Given the description of an element on the screen output the (x, y) to click on. 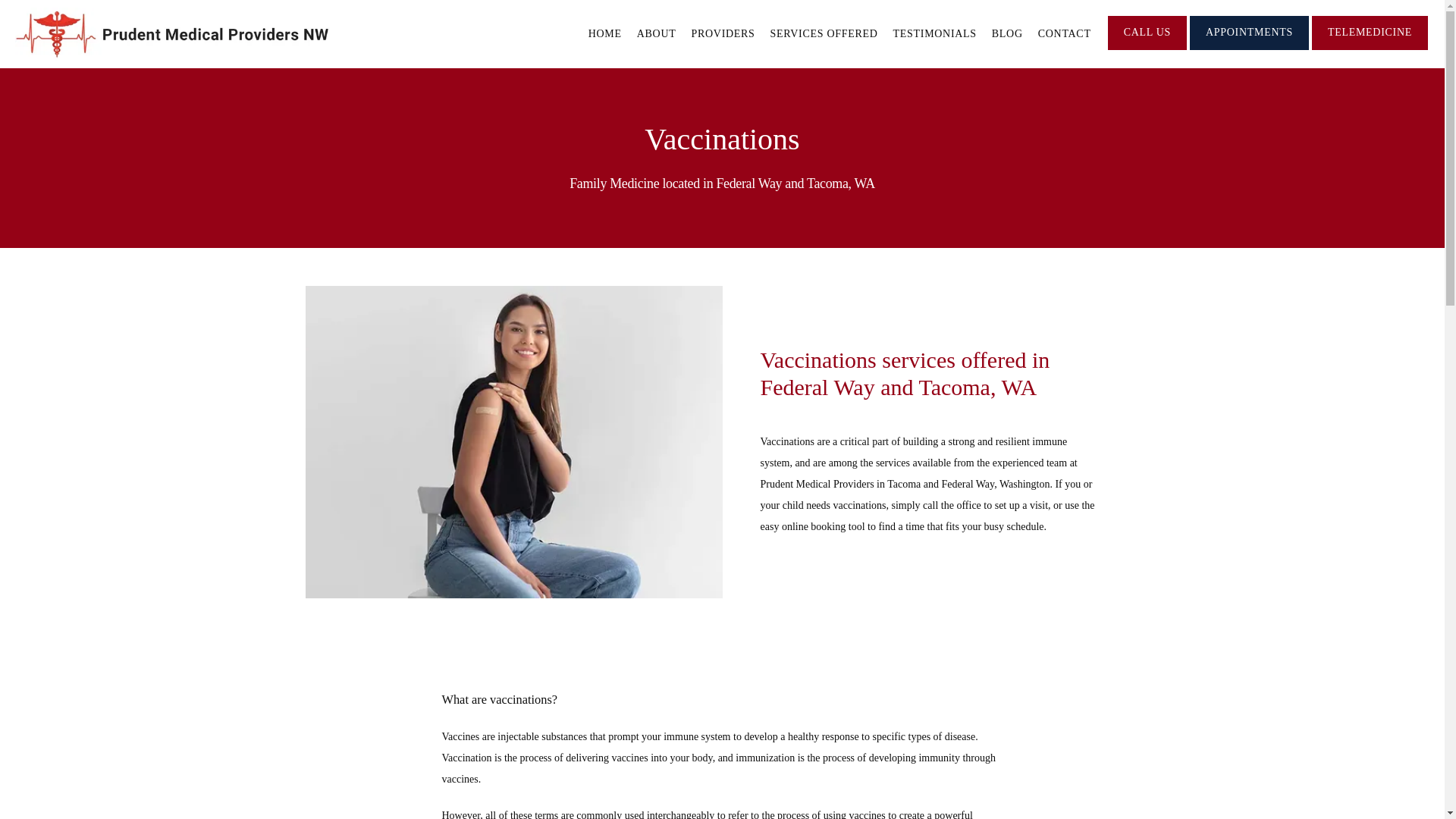
TESTIMONIALS (934, 33)
ABOUT (657, 33)
SERVICES OFFERED (823, 33)
TELEMEDICINE (1369, 48)
BLOG (1007, 33)
CALL US (1147, 48)
PROVIDERS (723, 33)
APPOINTMENTS (1249, 48)
CONTACT (1064, 33)
HOME (604, 33)
